Given the description of an element on the screen output the (x, y) to click on. 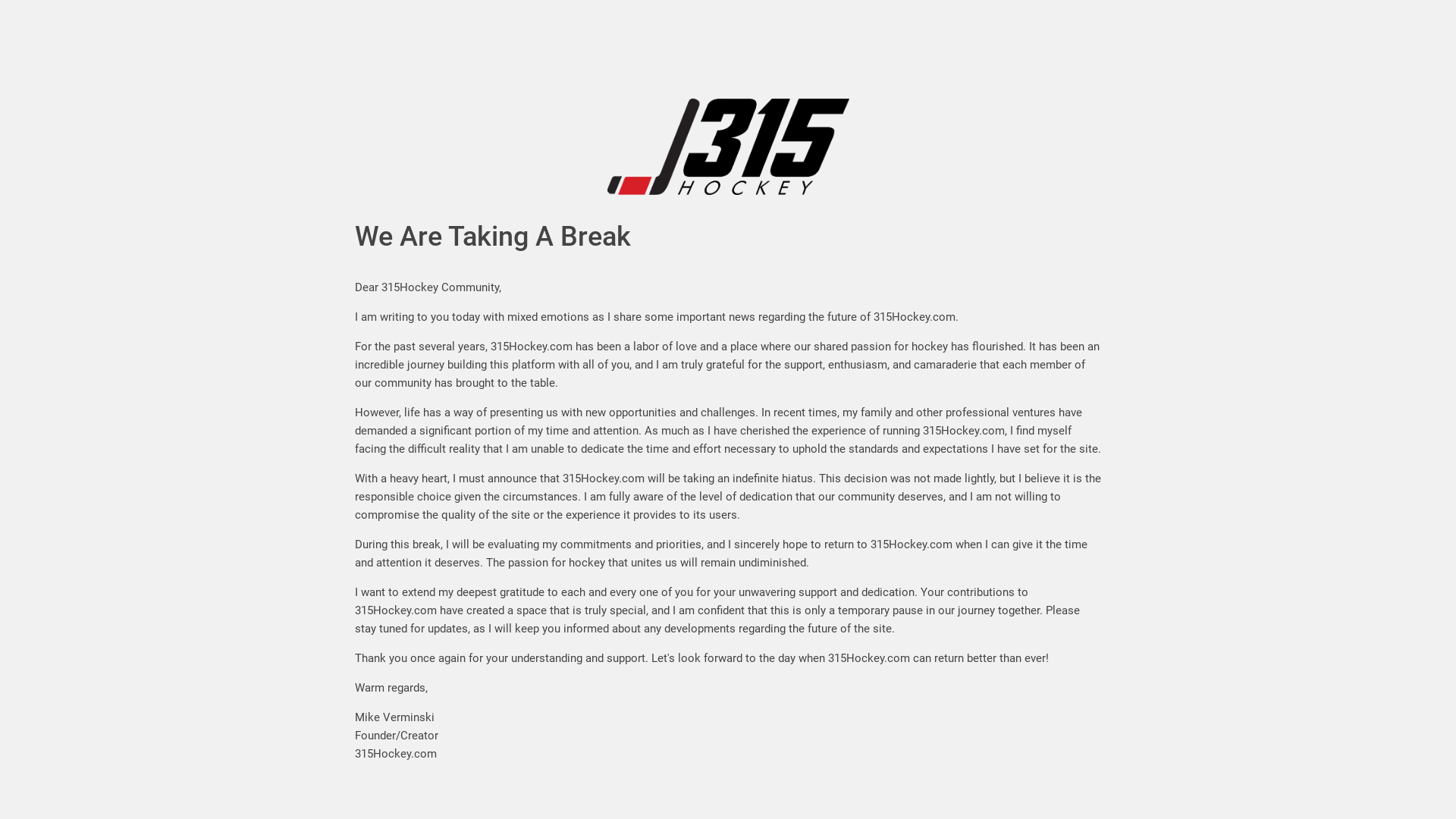
315 Hockey Element type: text (727, 107)
